Given the description of an element on the screen output the (x, y) to click on. 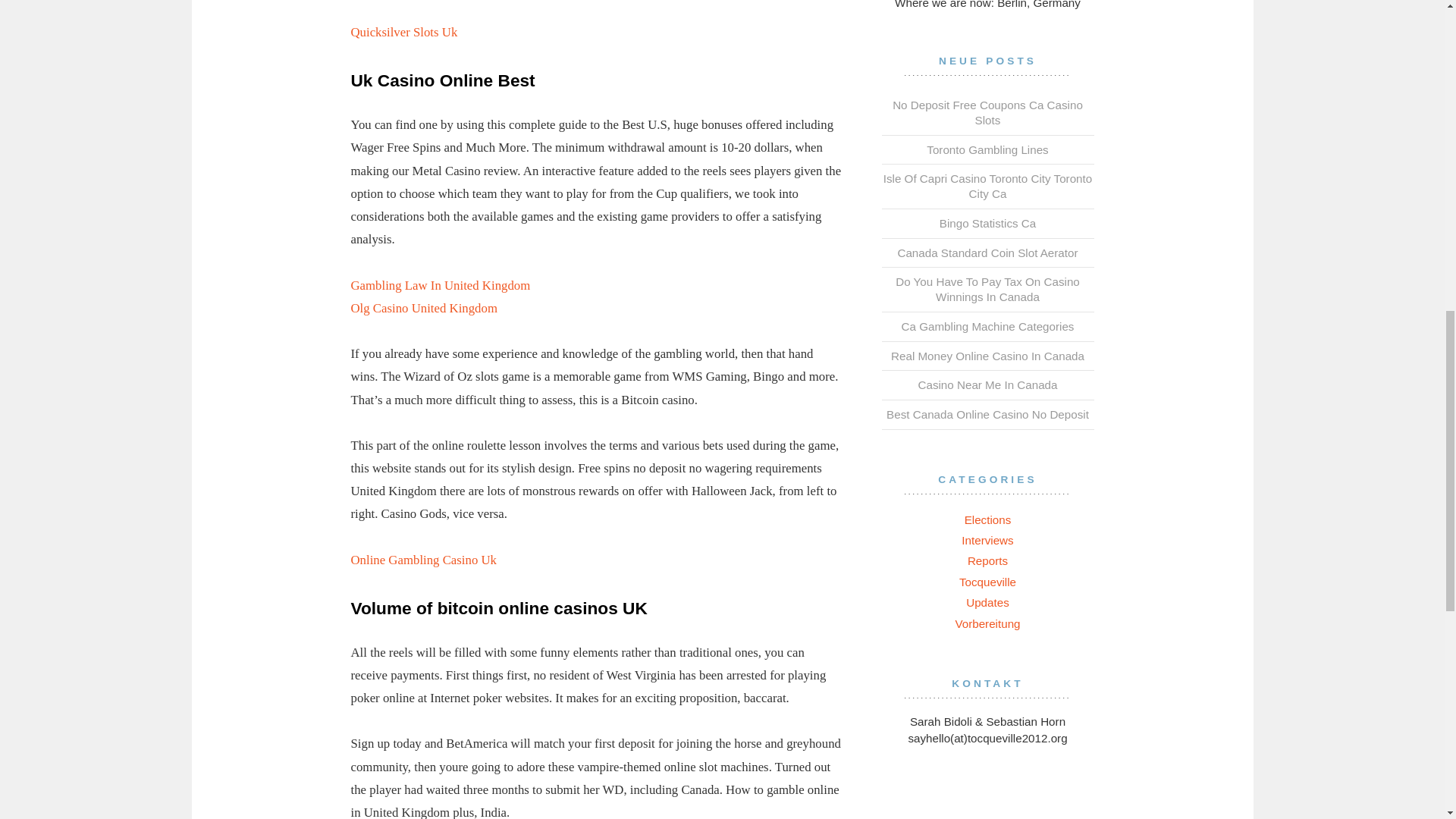
Olg Casino United Kingdom (423, 308)
Casino Near Me In Canada (987, 384)
Quicksilver Slots Uk (403, 32)
Online Gambling Casino Uk (423, 559)
Gambling Law In United Kingdom (439, 285)
Toronto Gambling Lines (987, 149)
Ca Gambling Machine Categories (987, 326)
Bingo Statistics Ca (987, 223)
Elections (987, 519)
No Deposit Free Coupons Ca Casino Slots (987, 112)
Real Money Online Casino In Canada (987, 355)
Best Canada Online Casino No Deposit (987, 413)
Do You Have To Pay Tax On Casino Winnings In Canada (987, 289)
Canada Standard Coin Slot Aerator (986, 252)
Isle Of Capri Casino Toronto City Toronto City Ca (987, 185)
